Given the description of an element on the screen output the (x, y) to click on. 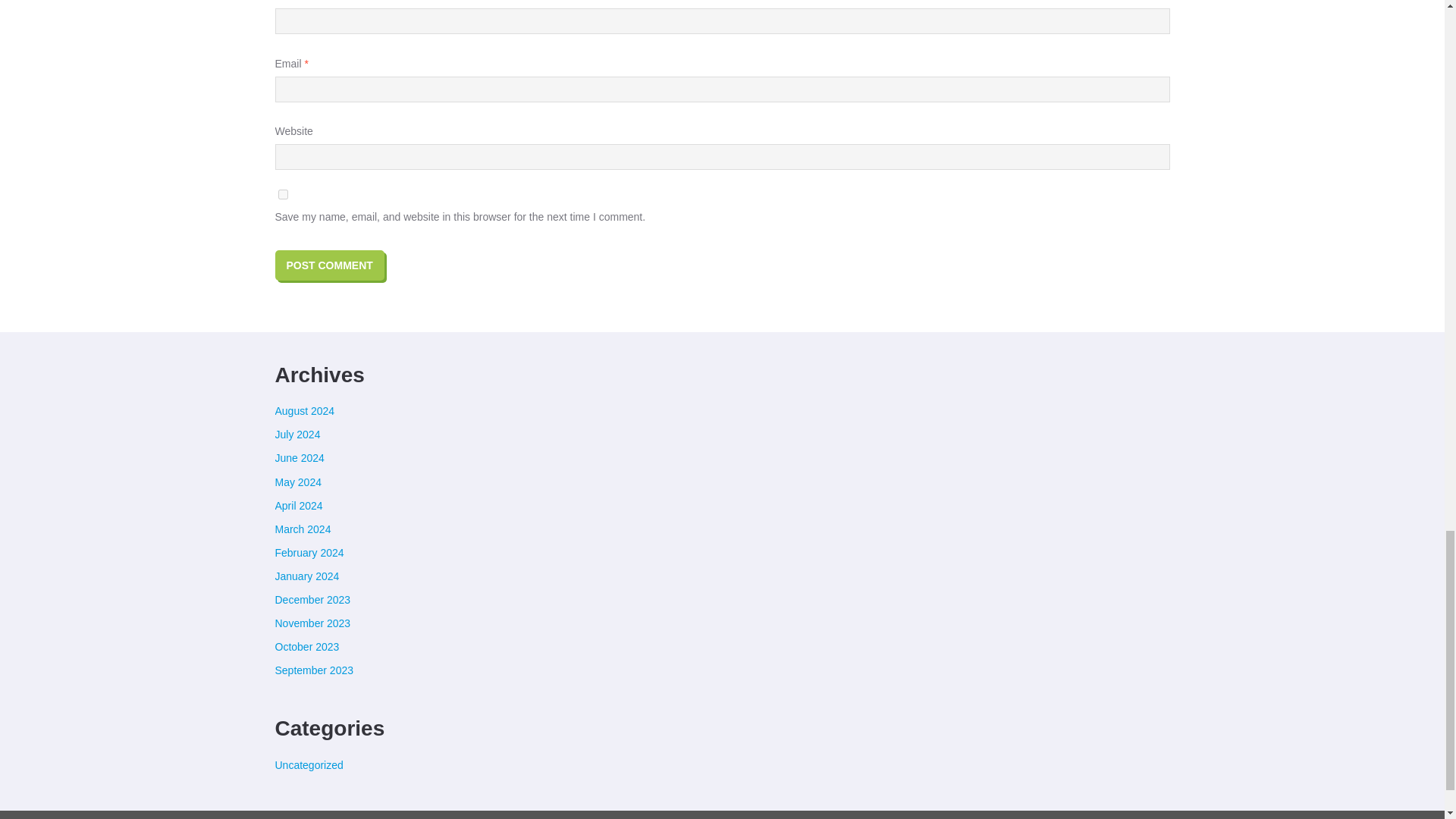
May 2024 (297, 481)
March 2024 (302, 529)
December 2023 (312, 599)
July 2024 (297, 434)
October 2023 (307, 646)
yes (282, 194)
November 2023 (312, 623)
April 2024 (298, 505)
February 2024 (309, 552)
Post Comment (329, 265)
June 2024 (299, 458)
January 2024 (307, 576)
September 2023 (314, 670)
Post Comment (329, 265)
Uncategorized (308, 765)
